Given the description of an element on the screen output the (x, y) to click on. 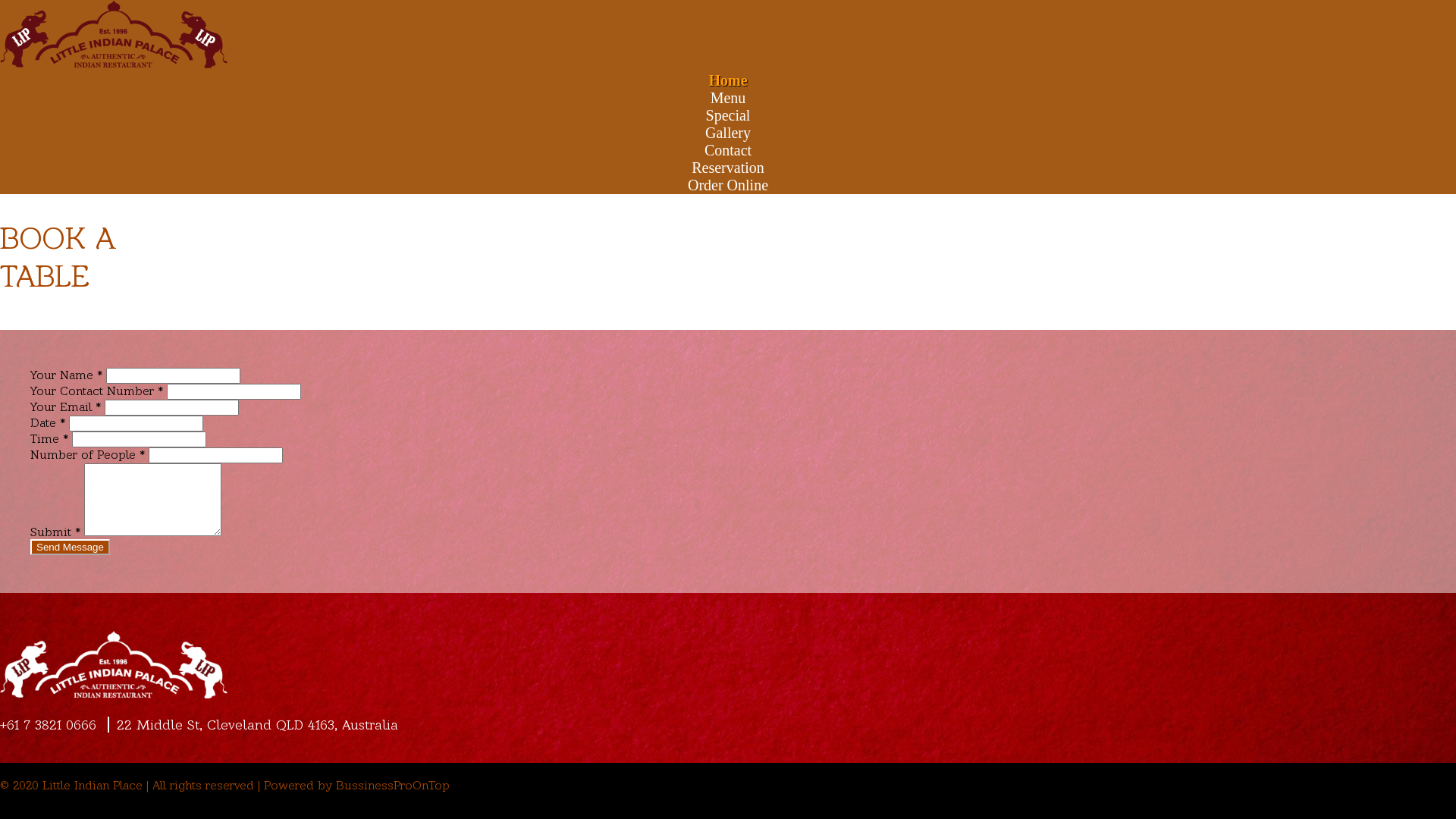
Contact Element type: text (727, 149)
+61 7 3821 0666 Element type: text (51, 724)
Special Element type: text (727, 114)
Reservation Element type: text (727, 167)
Order Online Element type: text (727, 184)
22 Middle St, Cleveland QLD 4163, Australia Element type: text (252, 724)
Gallery Element type: text (727, 132)
Menu Element type: text (728, 97)
Send Message Element type: text (69, 547)
Home Element type: text (727, 80)
